Given the description of an element on the screen output the (x, y) to click on. 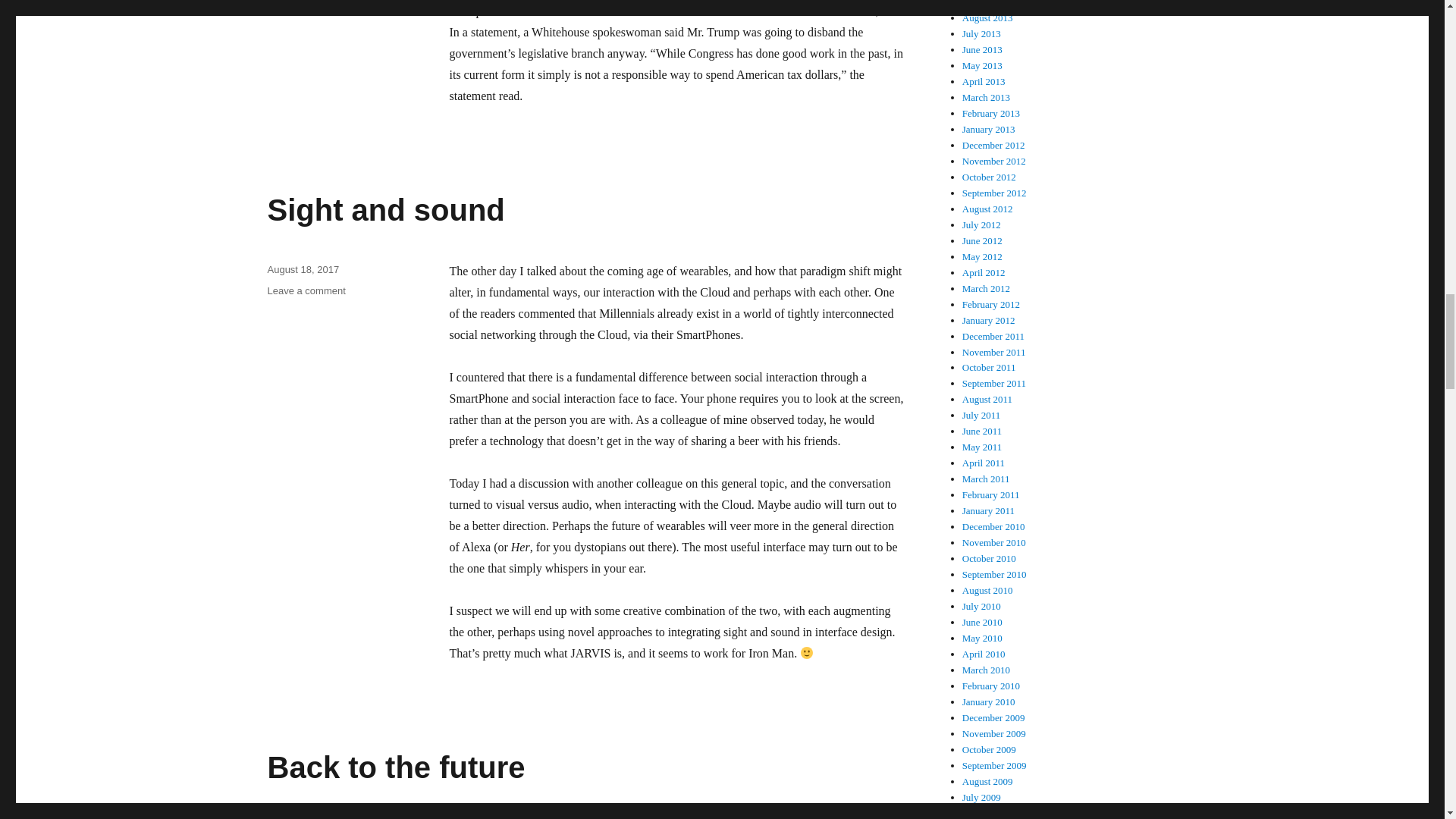
Back to the future (395, 767)
August 18, 2017 (302, 269)
Sight and sound (384, 209)
